Given the description of an element on the screen output the (x, y) to click on. 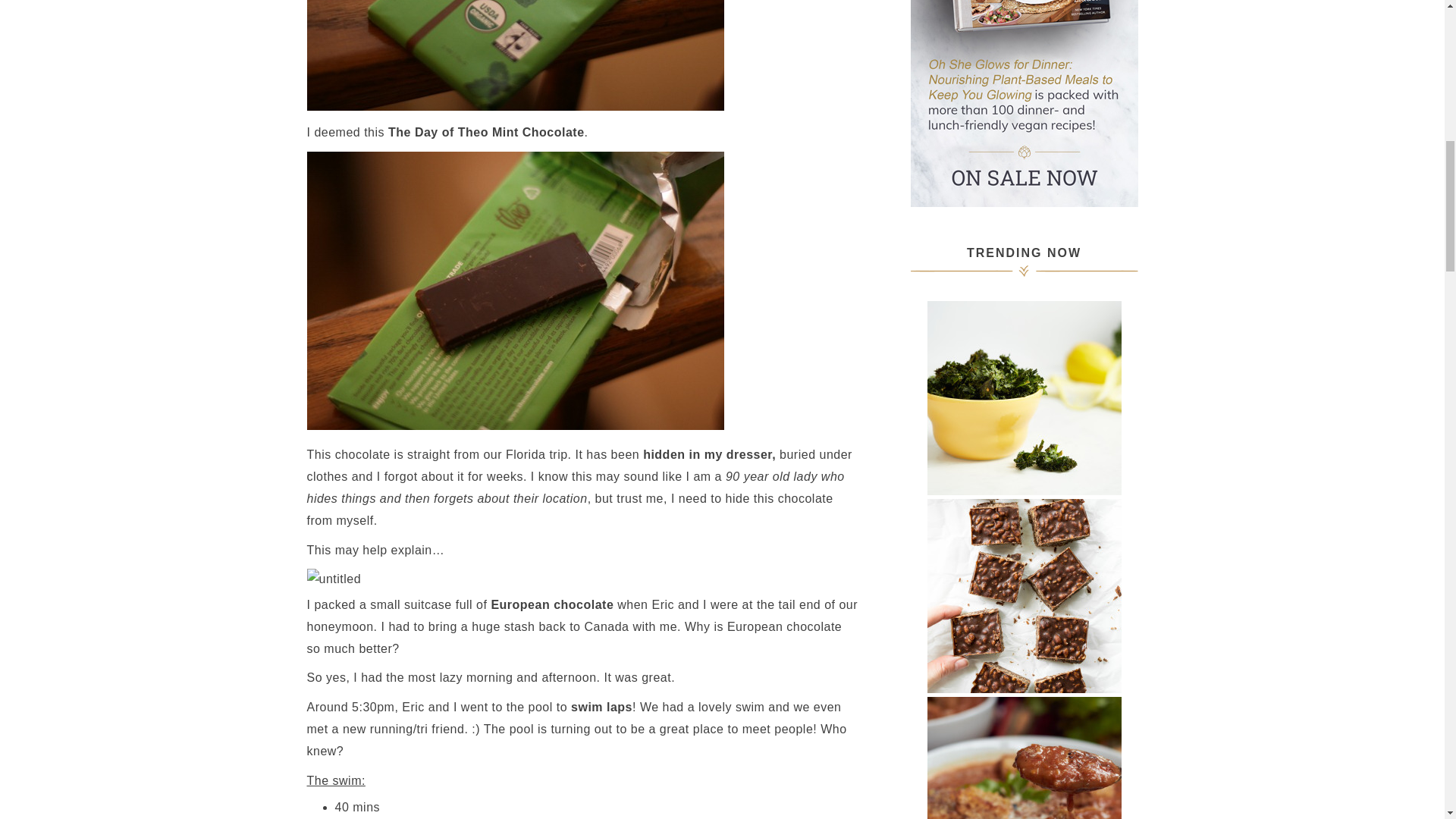
untitled (333, 579)
